Given the description of an element on the screen output the (x, y) to click on. 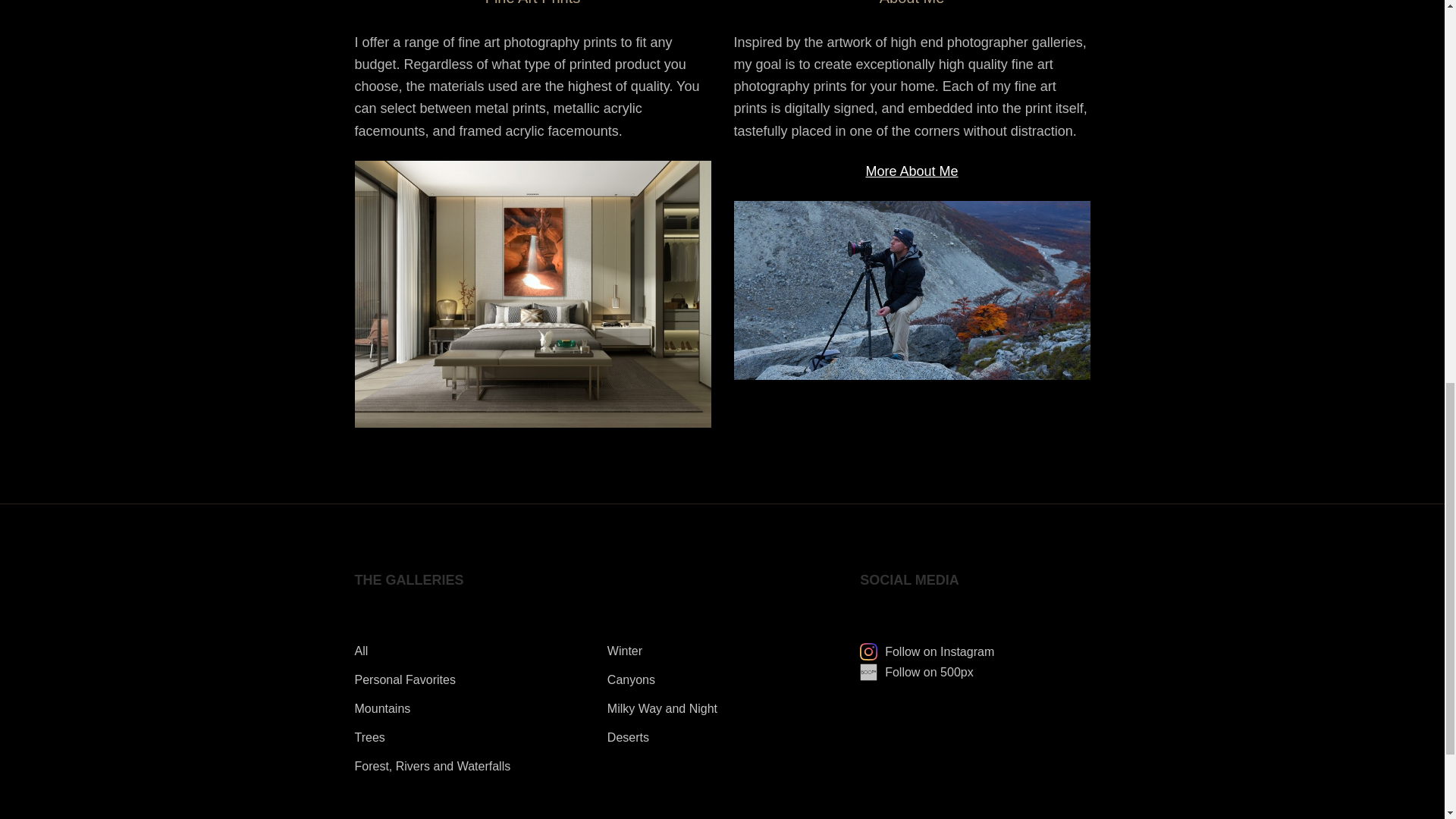
Follow on 500px (917, 671)
Trees (370, 737)
Follow on Instagram (927, 651)
Mountains (382, 707)
Forest, Rivers and Waterfalls (433, 766)
Canyons (631, 679)
All (361, 650)
Personal Favorites (405, 679)
Milky Way and Night (662, 707)
More About Me (911, 171)
Deserts (628, 737)
Winter (624, 650)
